Given the description of an element on the screen output the (x, y) to click on. 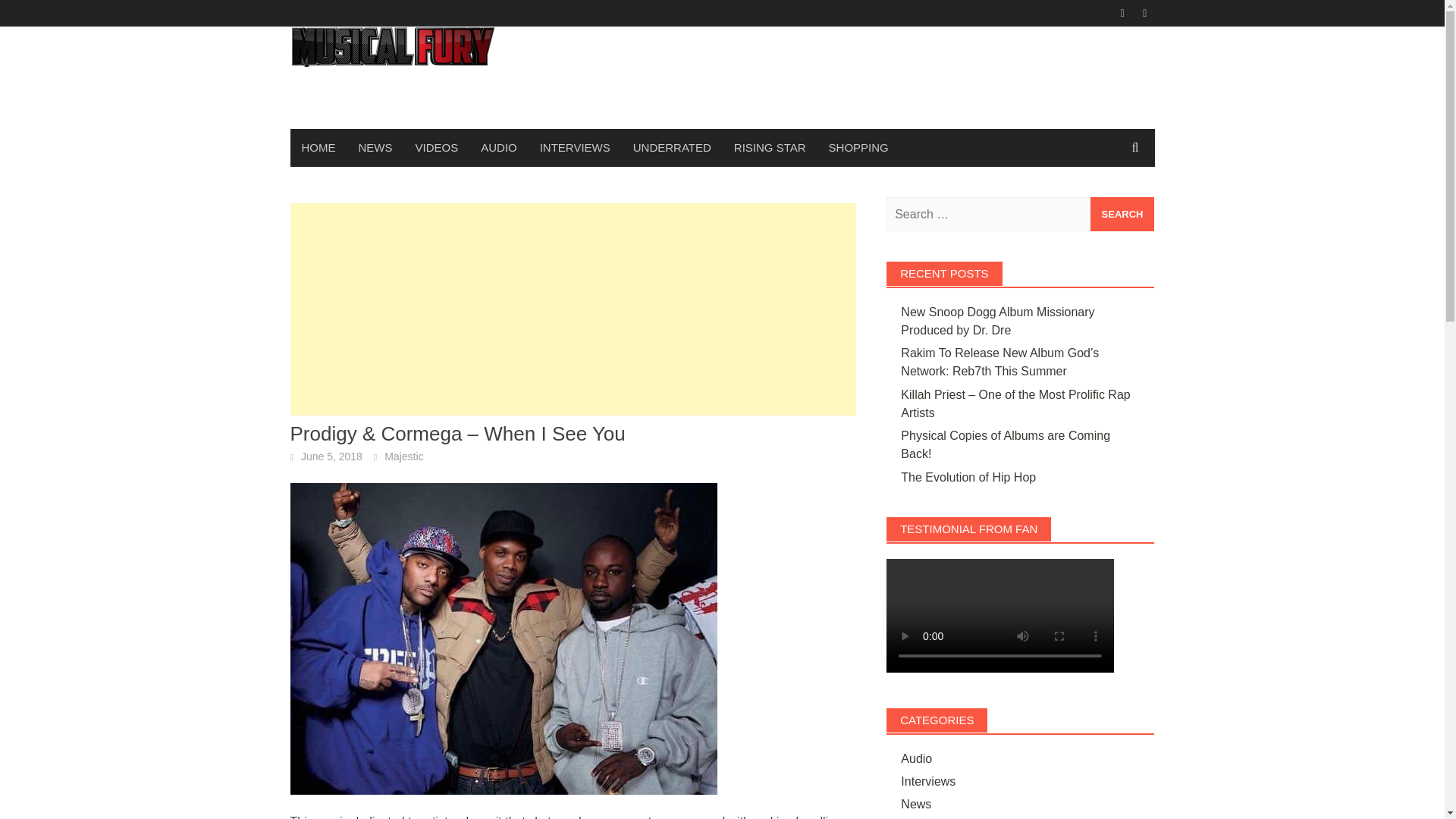
Physical Copies of Albums are Coming Back! (1005, 444)
Audio (916, 758)
New Snoop Dogg Album Missionary Produced by Dr. Dre (997, 320)
VIDEOS (435, 147)
Search (1122, 213)
News (916, 803)
Search (1122, 213)
SHOPPING (857, 147)
NEWS (375, 147)
June 5, 2018 (331, 456)
